Given the description of an element on the screen output the (x, y) to click on. 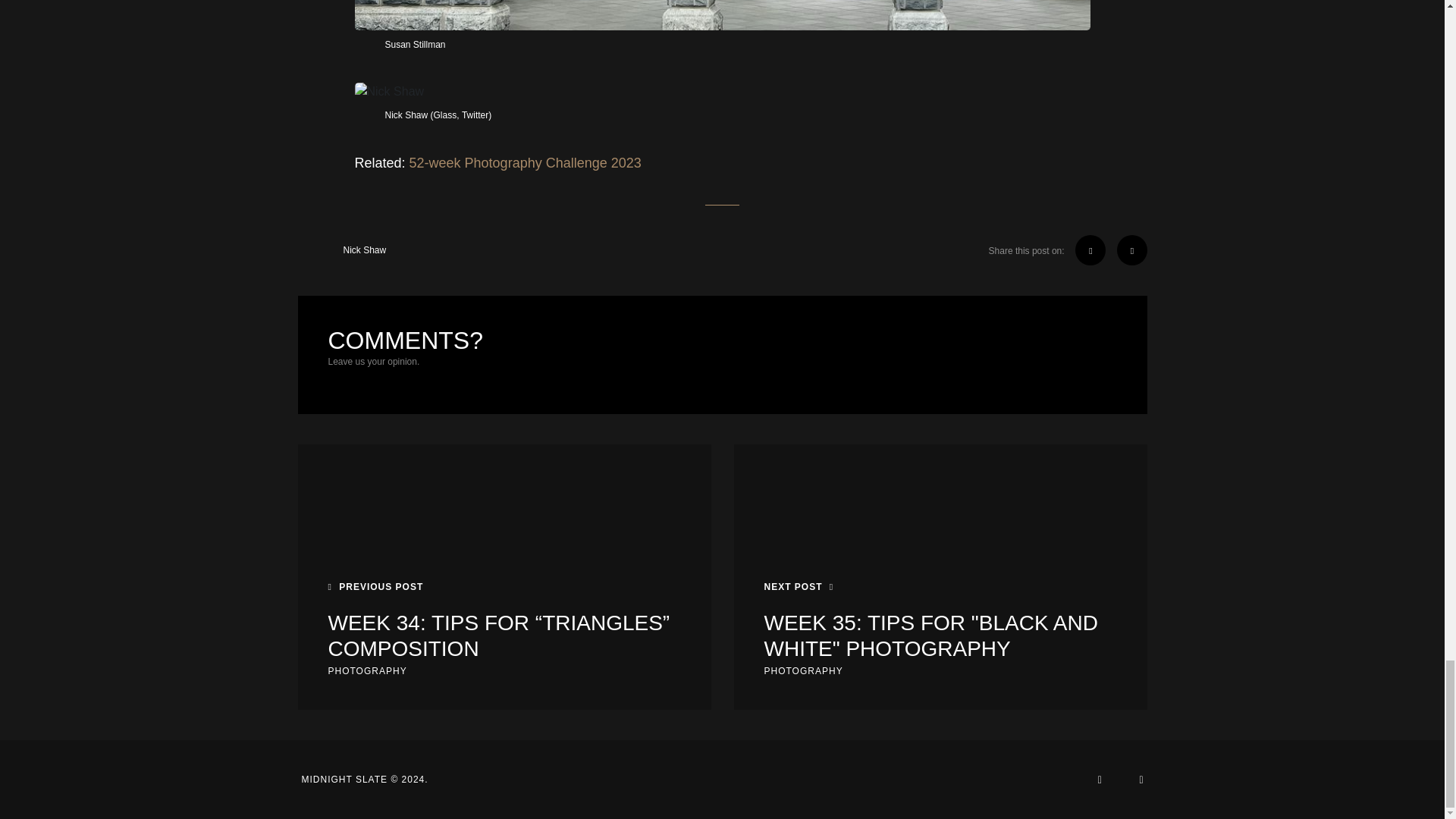
WEEK 35: TIPS FOR "BLACK AND WHITE" PHOTOGRAPHY (940, 635)
PHOTOGRAPHY (803, 671)
Twitter (474, 115)
Glass (445, 115)
Susan Stillman (415, 44)
52-week Photography Challenge 2023 (525, 163)
PHOTOGRAPHY (366, 671)
Nick Shaw (341, 250)
